Given the description of an element on the screen output the (x, y) to click on. 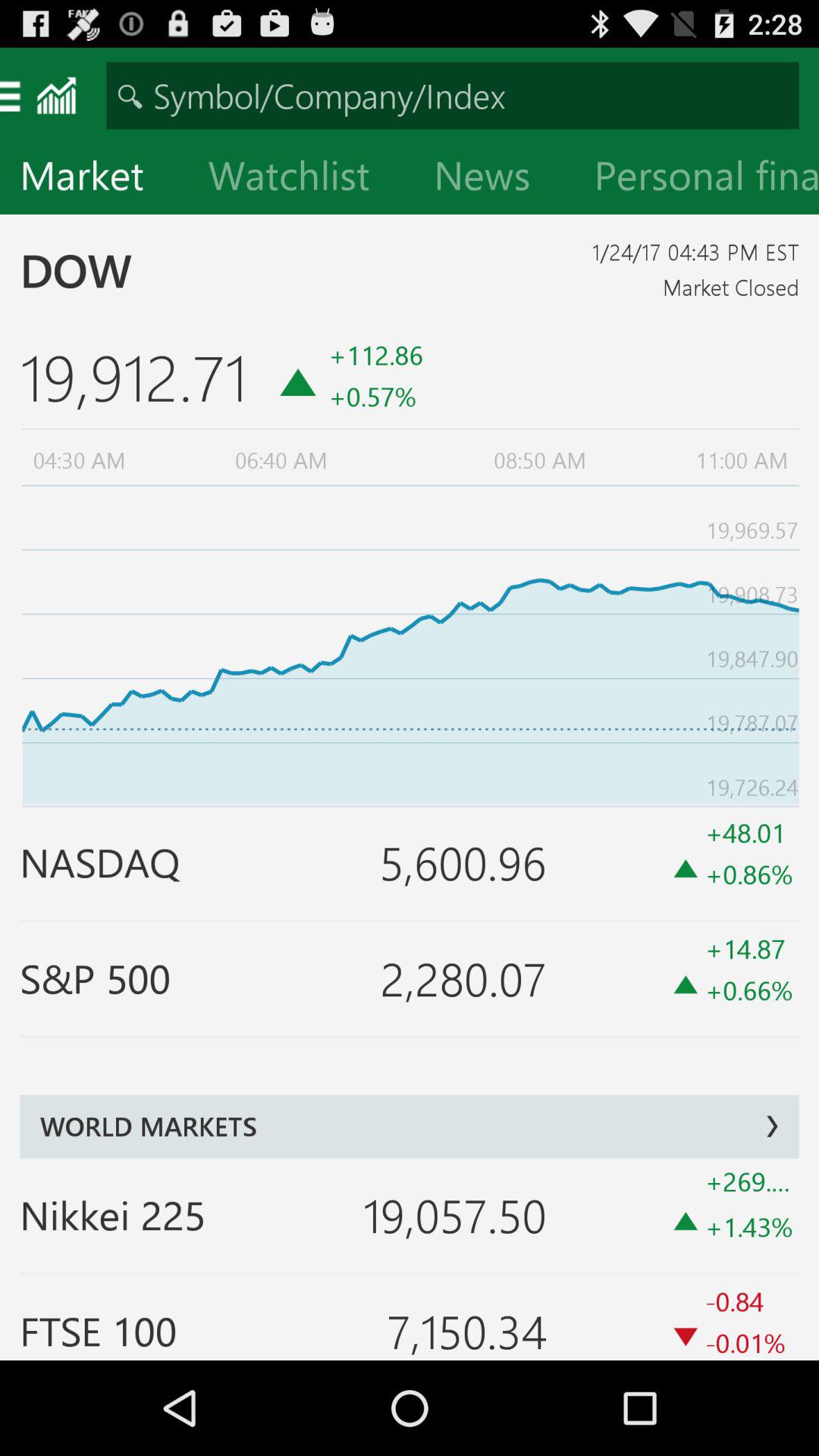
open search bar (452, 95)
